Given the description of an element on the screen output the (x, y) to click on. 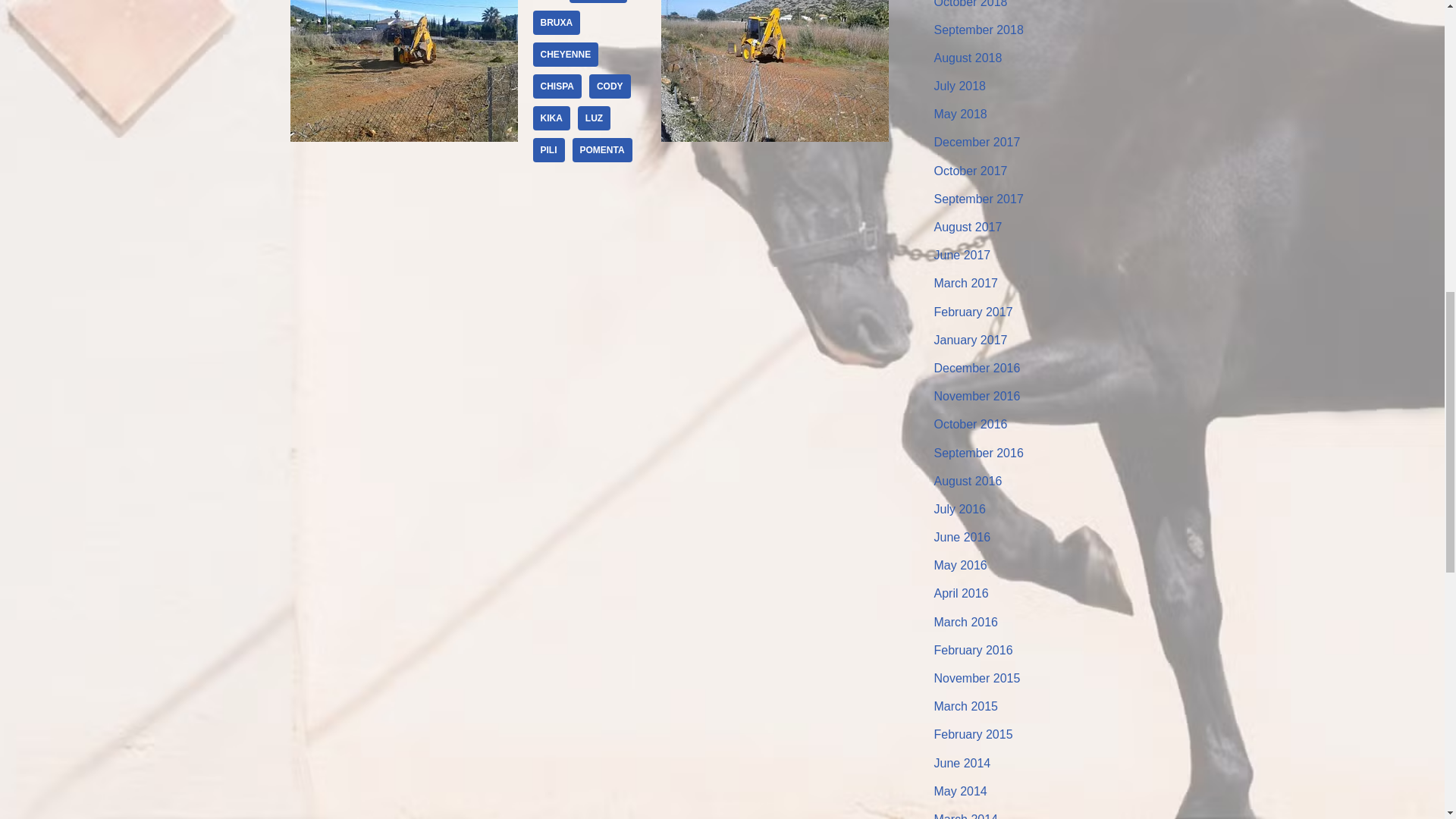
Pomenta (601, 150)
Cheyenne (565, 54)
Bambina (598, 1)
Pili (548, 150)
Chispa (556, 86)
Bruxa (555, 22)
Cody (609, 86)
Luz (594, 118)
Kika (550, 118)
